Given the description of an element on the screen output the (x, y) to click on. 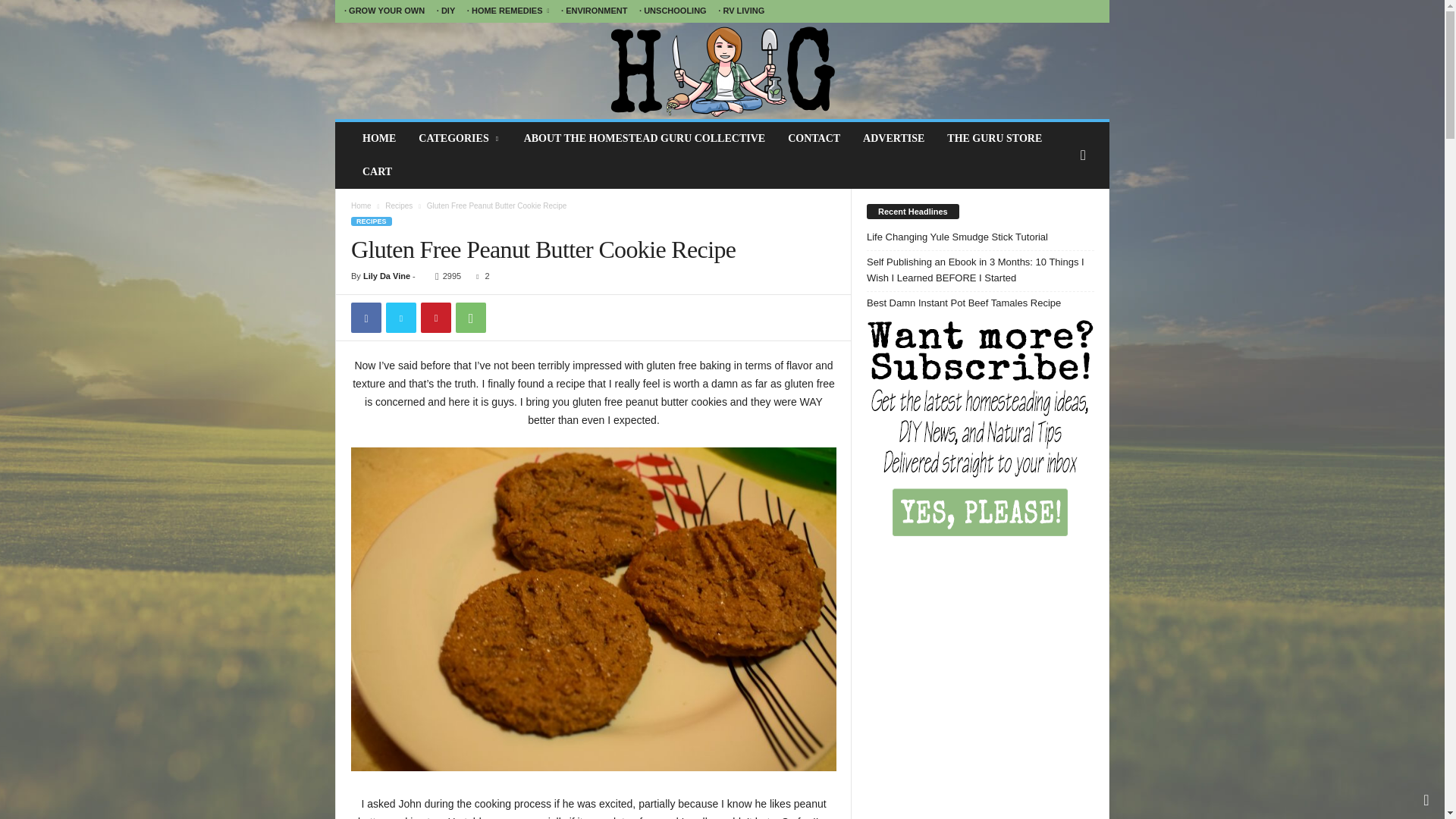
ABOUT THE HOMESTEAD GURU COLLECTIVE (644, 138)
HG (721, 70)
Twitter (400, 317)
HOME (378, 138)
CATEGORIES (459, 138)
Pinterest (435, 317)
Facebook (365, 317)
View all posts in Recipes (398, 205)
WhatsApp (470, 317)
